Given the description of an element on the screen output the (x, y) to click on. 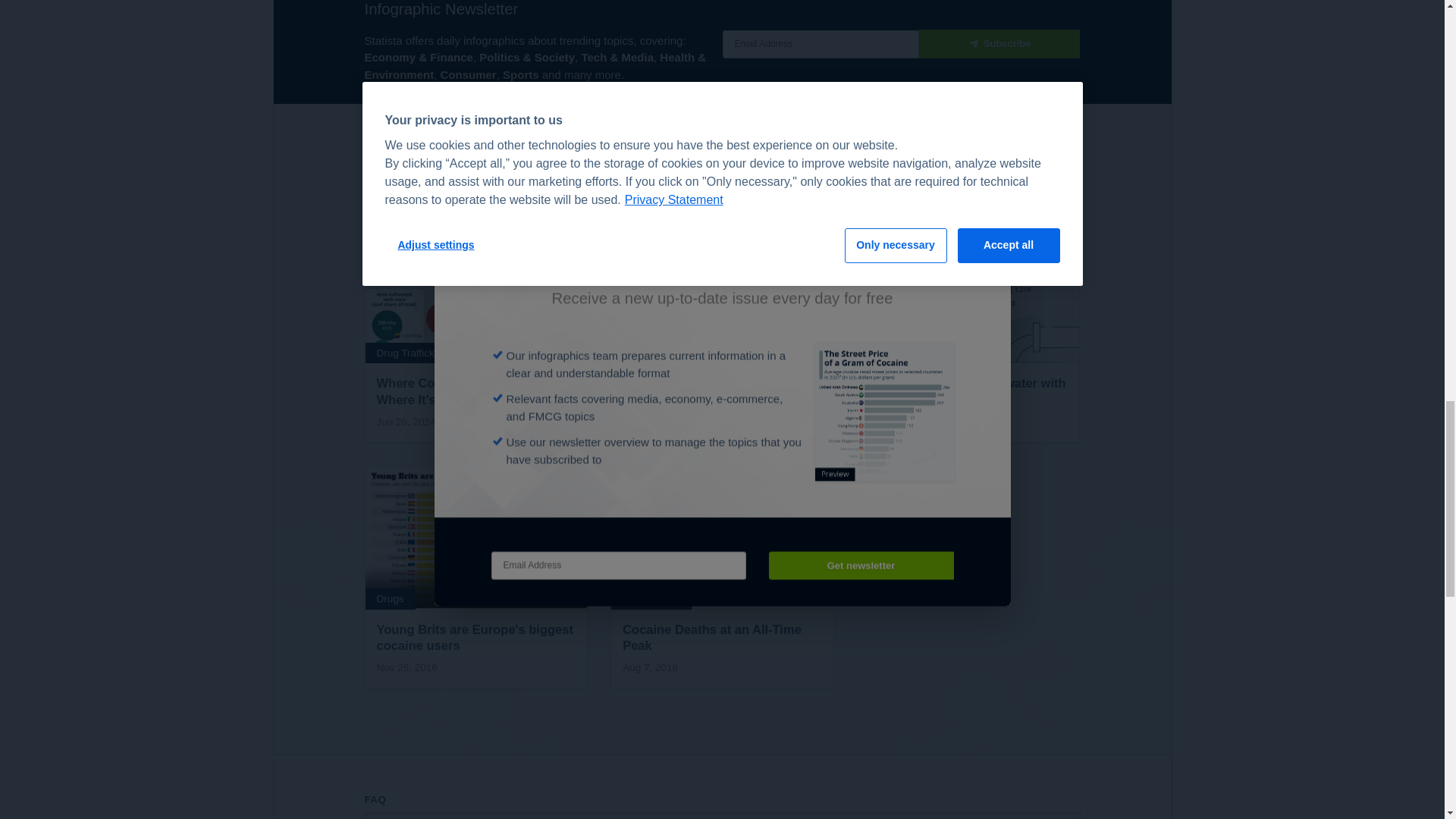
Down the Drain: Wastewater with the Most Cocaine (968, 322)
Young Brits are Europe's biggest cocaine users (476, 577)
London has a massive cocaine addiction (722, 322)
Cocaine Deaths at an All-Time Peak (722, 577)
